Given the description of an element on the screen output the (x, y) to click on. 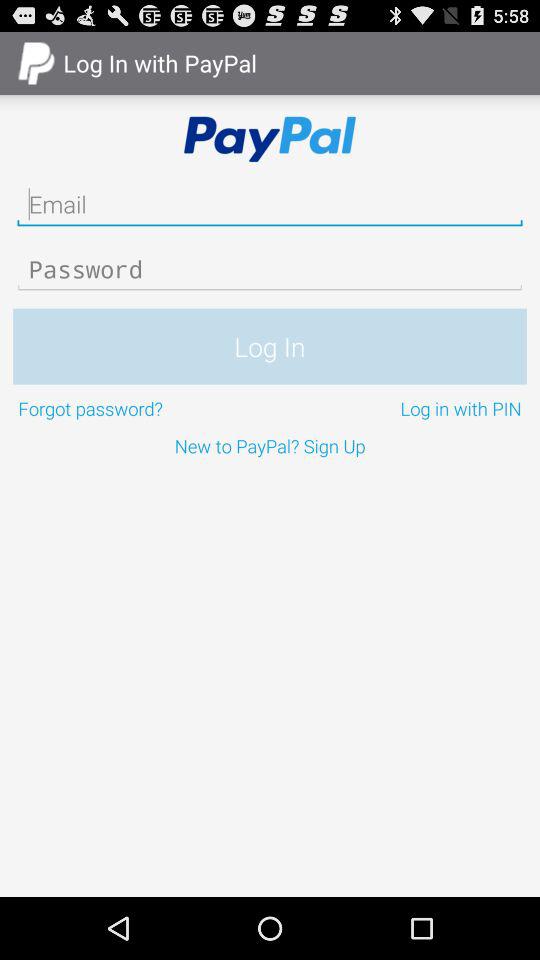
launch the app next to the log in with icon (141, 408)
